Given the description of an element on the screen output the (x, y) to click on. 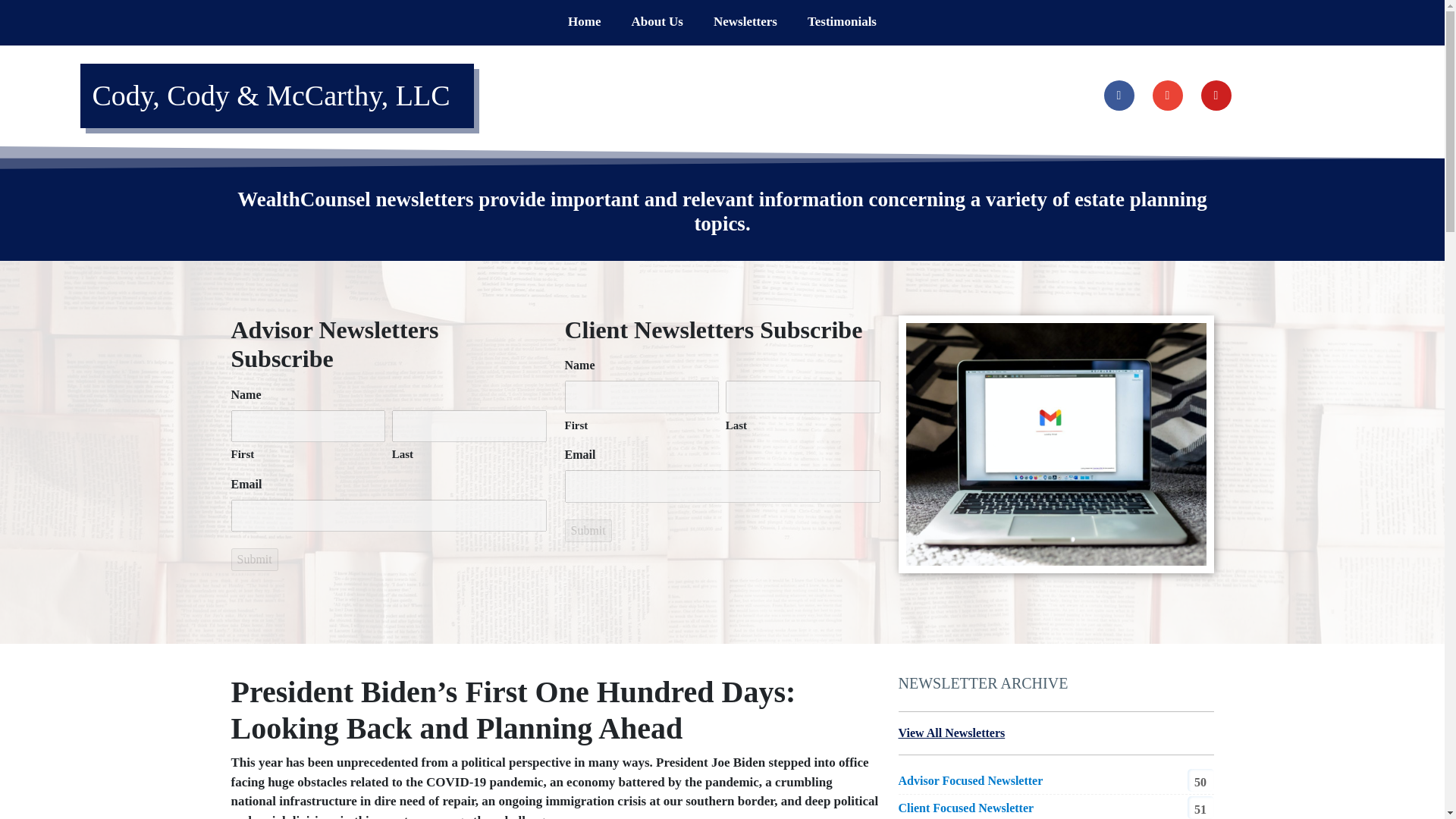
About Us (656, 22)
Advisor Focused Newsletter (970, 780)
Newsletters (745, 22)
Testimonials (841, 22)
Submit (254, 558)
Home (584, 22)
Submit (254, 558)
Submit (587, 530)
Submit (587, 530)
Client Focused Newsletter (965, 806)
View All Newsletters (952, 732)
